Given the description of an element on the screen output the (x, y) to click on. 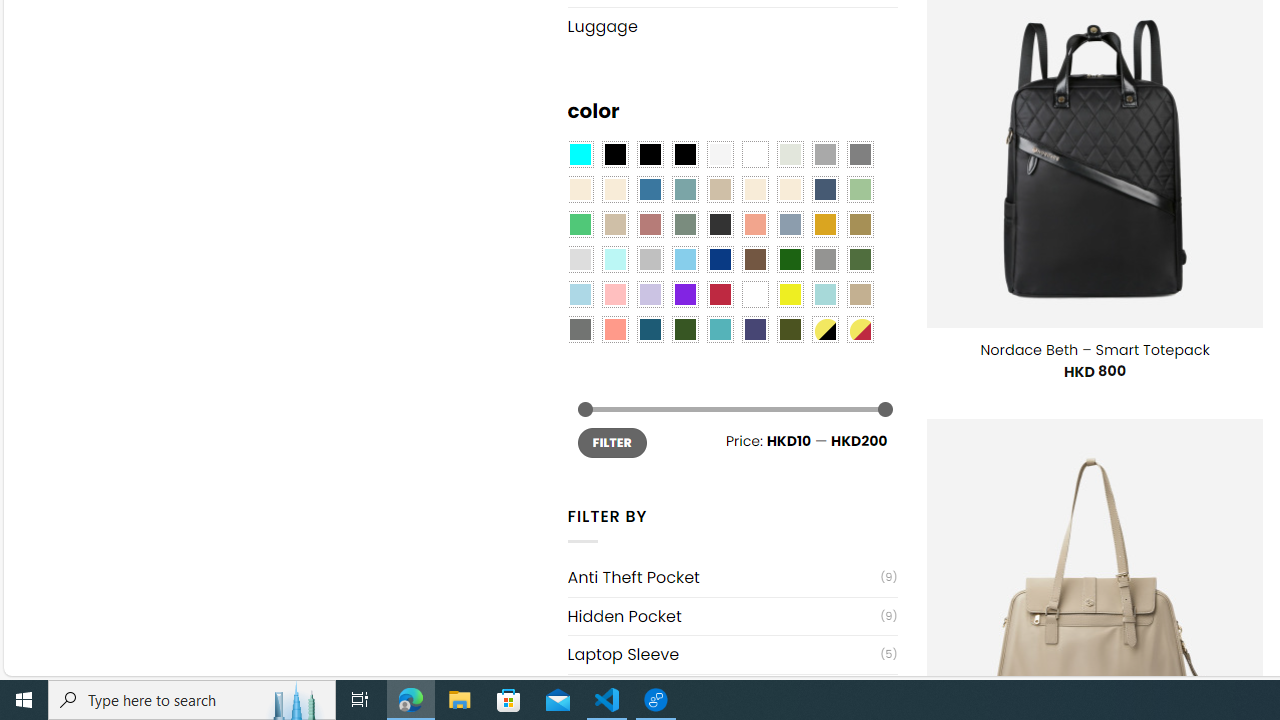
Brown (755, 259)
Yellow (789, 295)
Clear (755, 154)
Sky Blue (684, 259)
Dusty Blue (789, 224)
Pearly White (719, 154)
White (755, 295)
Teal (719, 329)
Charcoal (719, 224)
Mint (614, 259)
Luggage (732, 26)
Light Taupe (614, 224)
All Gray (859, 154)
Army Green (789, 329)
Kelp (859, 224)
